Given the description of an element on the screen output the (x, y) to click on. 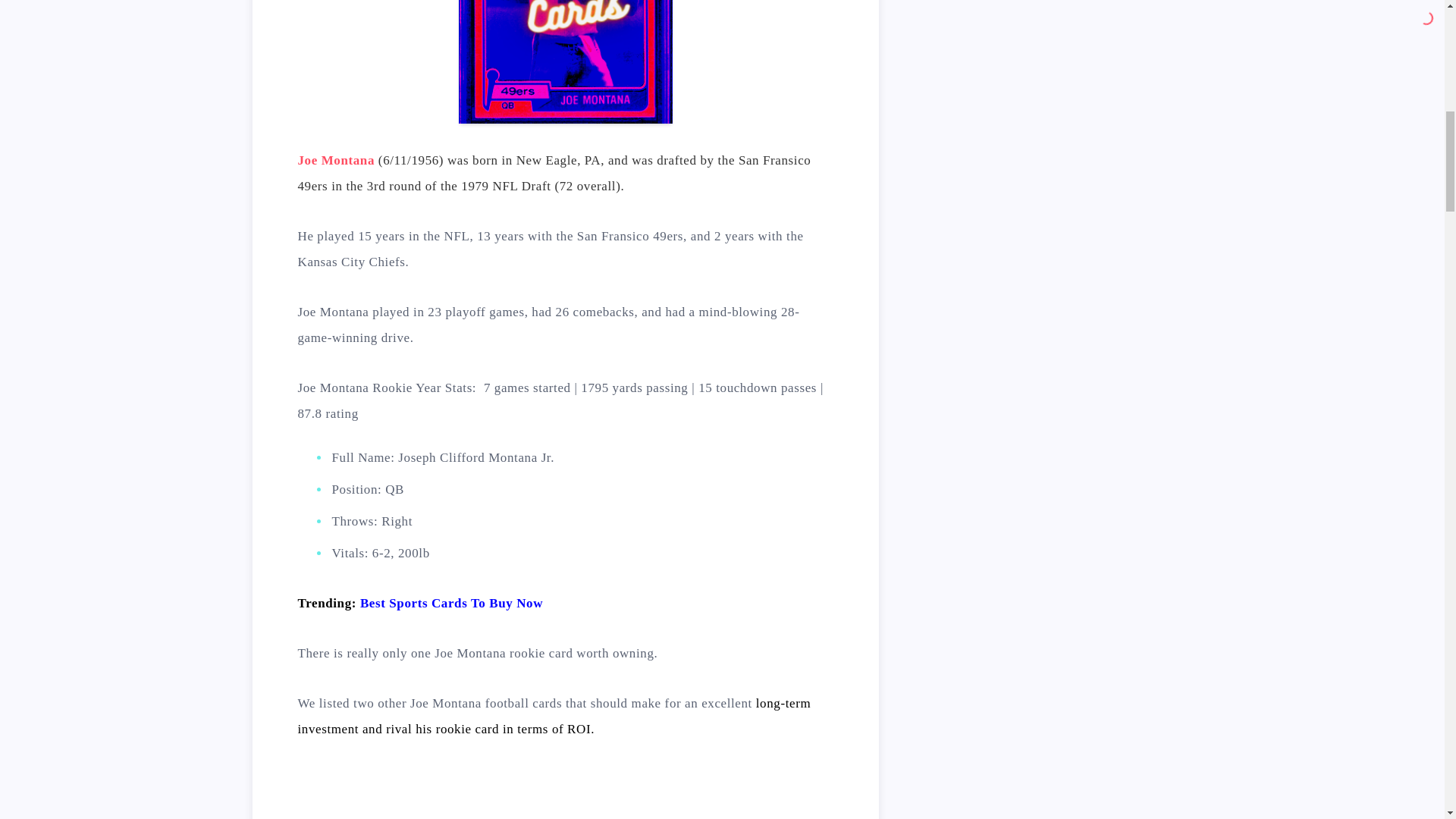
Joe Montana (335, 160)
Best Sports Cards To Buy Now (451, 603)
